Given the description of an element on the screen output the (x, y) to click on. 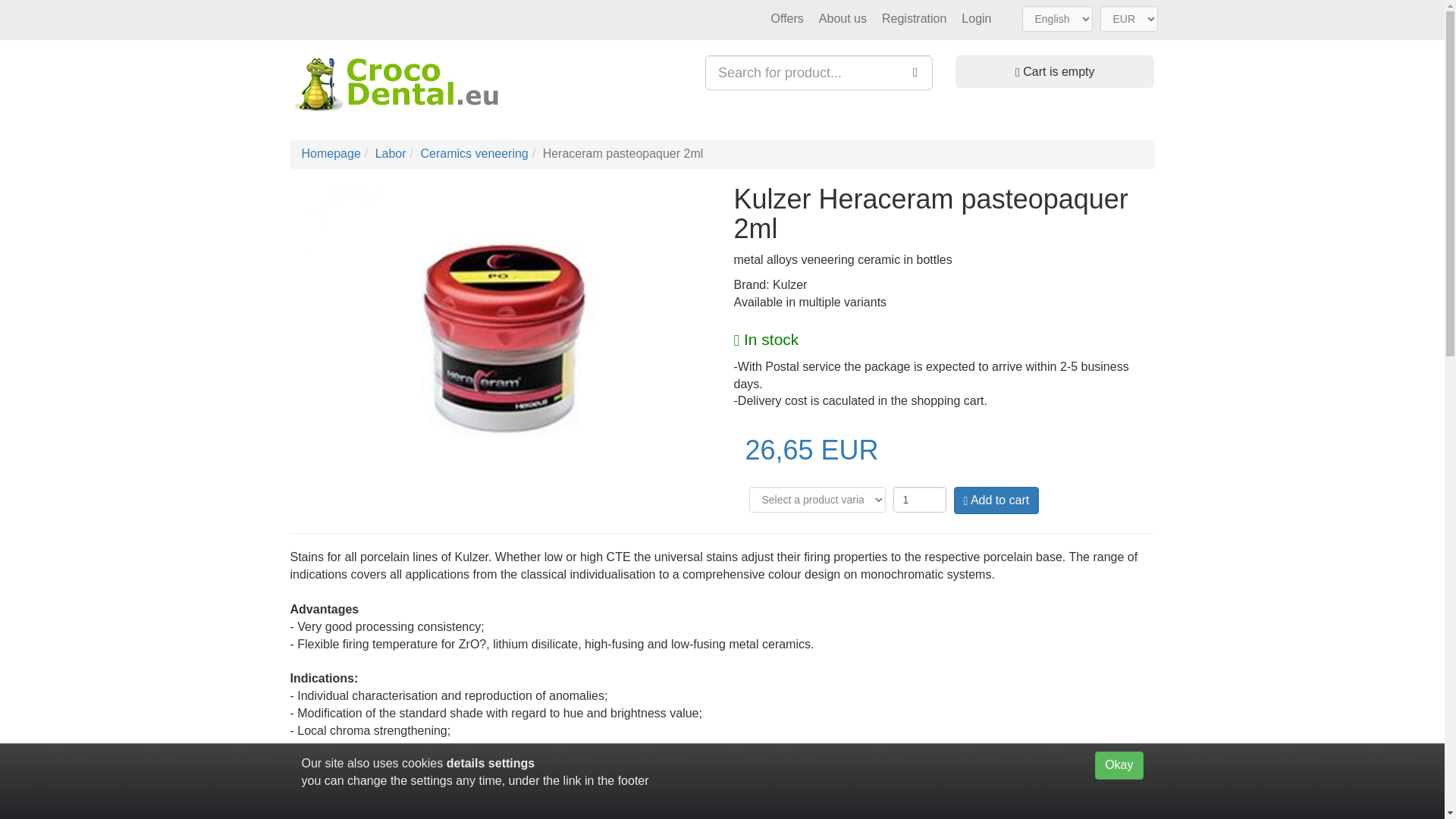
Offers (786, 18)
Select currency (1128, 18)
Cart is empty (1054, 71)
CrocoDental.eu (395, 84)
Login (975, 18)
Registration (914, 18)
Ceramics veneering (473, 153)
About us (842, 18)
1 (919, 499)
Homepage (331, 153)
Select language (1057, 18)
Add to cart (996, 500)
Labor (390, 153)
